Given the description of an element on the screen output the (x, y) to click on. 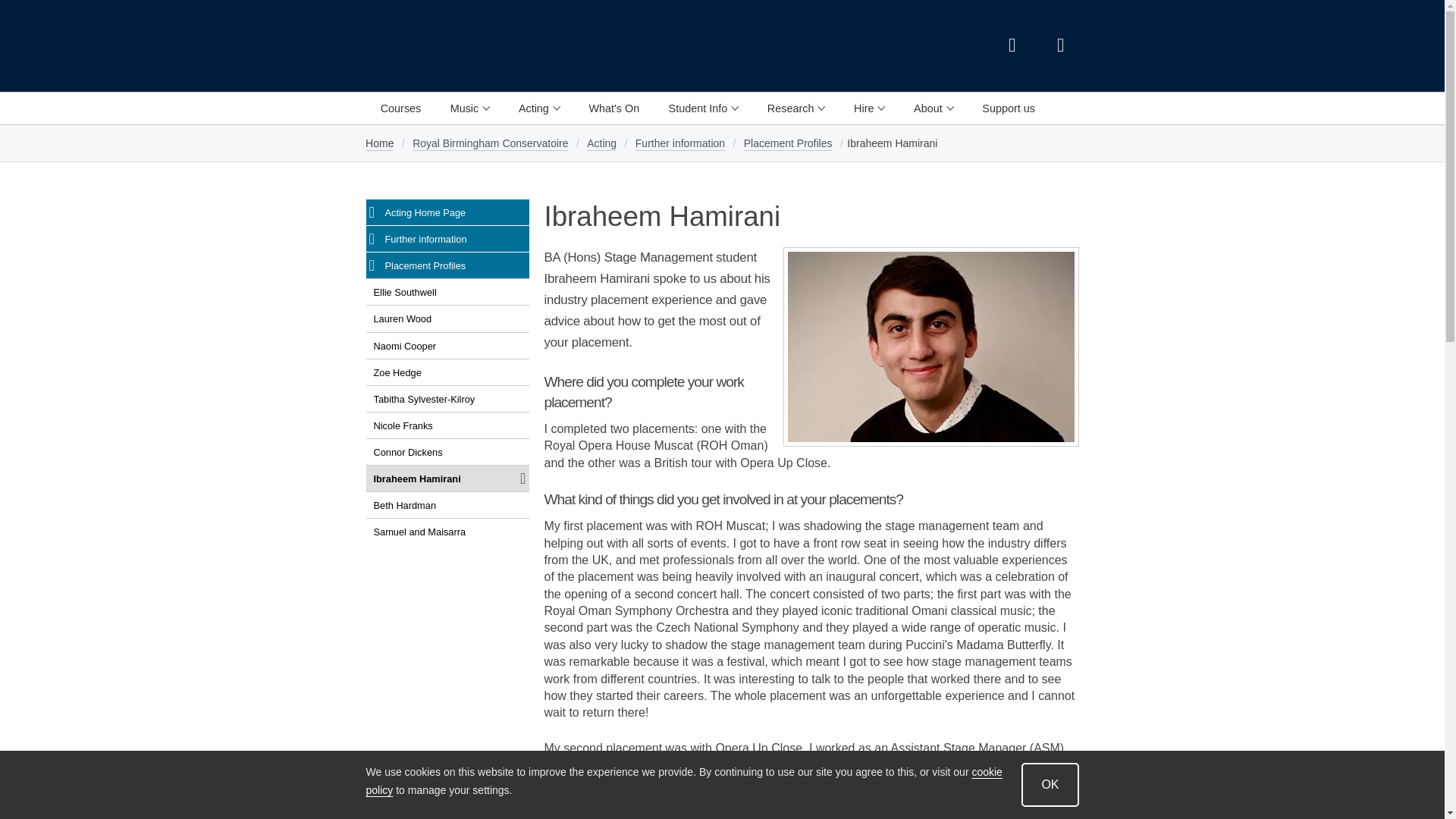
Royal Birmingham Conservatoire (545, 45)
Courses (400, 108)
OK (1050, 784)
Birmingham City University (395, 45)
View saved courses (1060, 45)
Search the BCU website (1010, 45)
cookie policy (683, 780)
Music (469, 108)
